Given the description of an element on the screen output the (x, y) to click on. 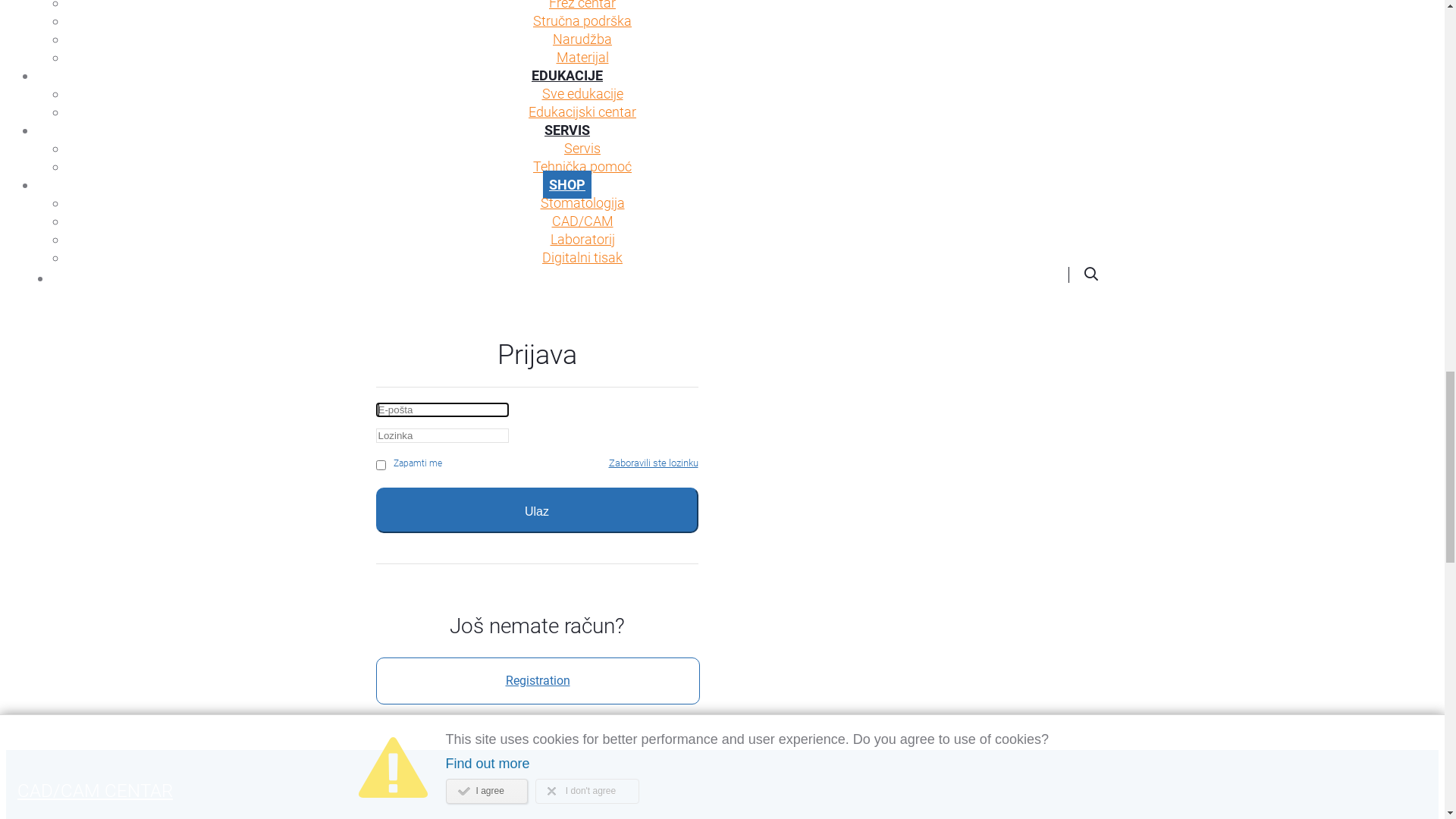
SVI SAJMOVI Element type: text (347, 31)
Dentalna fotografija Element type: text (582, 728)
CAD/CAM freze Element type: text (582, 801)
Endodoncija Element type: text (582, 400)
Retrakcija Element type: text (581, 491)
TVRTKA Element type: text (151, 31)
Instrumenti Element type: text (581, 655)
Registracija zagriza Element type: text (582, 619)
Nasadniki Element type: text (581, 564)
Staklarija Element type: text (582, 710)
Privremena punjena i cementi Element type: text (582, 455)
English Element type: text (822, 56)
Cementi Element type: text (582, 509)
Login Element type: text (671, 56)
Profilaksa, oralna higijena i paste za poliranje Element type: text (581, 218)
Matrice i klinovi Element type: text (582, 418)
Slovensko Element type: text (749, 56)
Obrazni luk i artikulatori Element type: text (582, 637)
CAD/CAM Element type: text (566, 764)
Izbjelivanje i pribor Element type: text (582, 236)
info@interdent.cc Element type: text (585, 56)
Estetska ortodoncija Element type: text (582, 200)
Sistem dubokog vleka folija Element type: text (581, 437)
DOWNLOAD Element type: text (272, 31)
Deutsche Element type: text (894, 56)
Amalgami Element type: text (582, 364)
CAD/CAM materijali Element type: text (582, 782)
Materijali za reparature Element type: text (582, 546)
+386 3 425 62 00 Element type: text (472, 56)
Kompomeri, Ormoceri Element type: text (581, 327)
Hrvatsko Element type: text (744, 31)
Proteze Element type: text (582, 600)
Espanol Element type: text (1033, 56)
Russky Element type: text (965, 56)
Dezinfekcija i sterilizacija Element type: text (581, 273)
Koferdam tehnika Element type: text (582, 528)
STOMATOLOGIJA Element type: text (566, 164)
Rotacijski instrumenti Element type: text (581, 582)
Kirurgija i implantologija Element type: text (582, 673)
Adhezivi, premazi, podloge Element type: text (581, 291)
Glasionomeri Element type: text (581, 346)
Kompoziti Element type: text (582, 309)
Aparati, oprema, alati Element type: text (582, 691)
NOVOSTI Element type: text (207, 31)
Otisne mase Element type: text (582, 473)
